Given the description of an element on the screen output the (x, y) to click on. 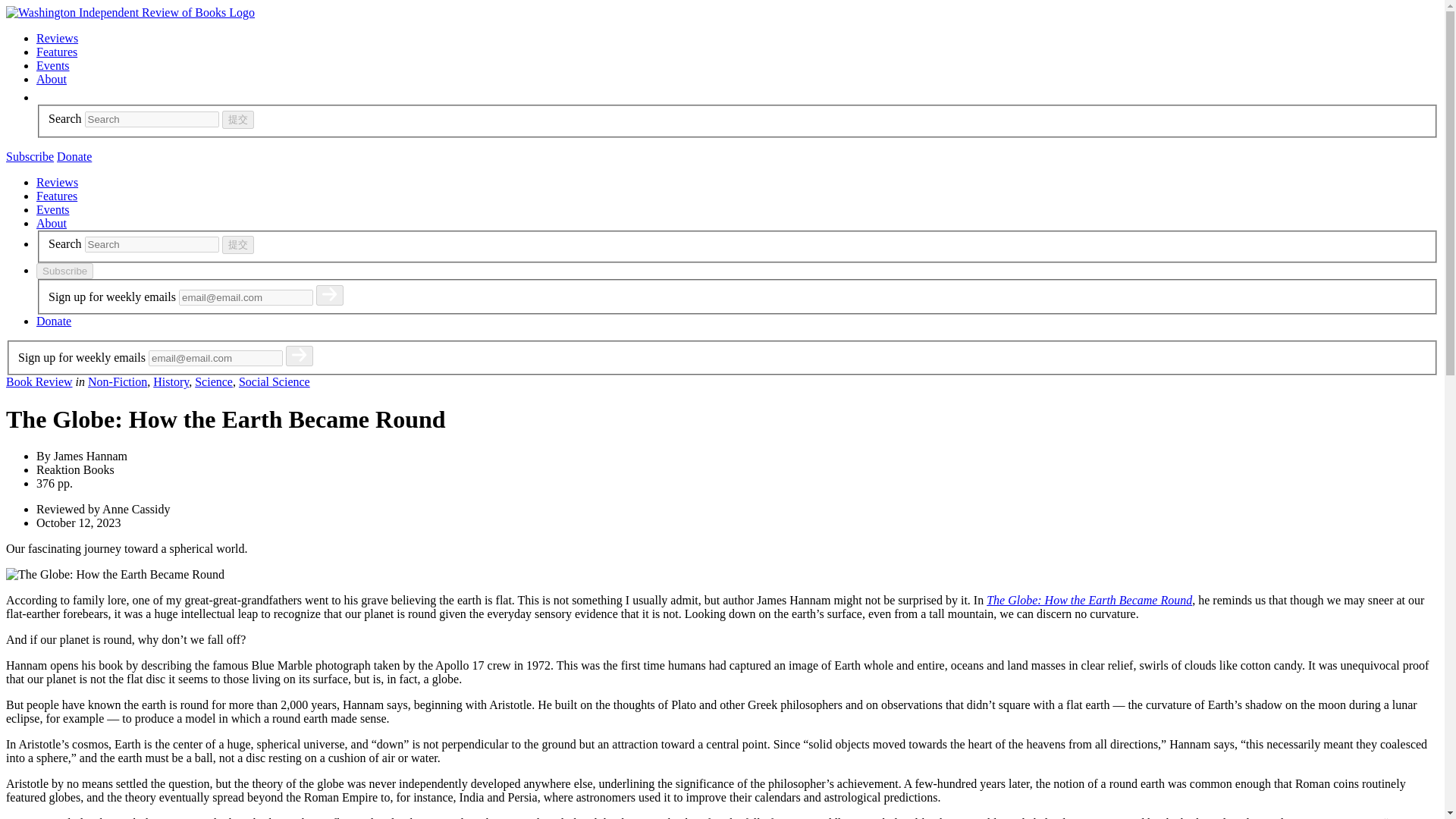
Subscribe (29, 155)
Donate (53, 320)
Reviews (57, 182)
Donate (73, 155)
Social Science (274, 381)
Science (213, 381)
The Globe: How the Earth Became Round (1089, 599)
Features (56, 195)
About (51, 78)
Events (52, 209)
About (51, 223)
Events (52, 65)
History (170, 381)
Book Review (38, 381)
Subscribe (64, 270)
